Given the description of an element on the screen output the (x, y) to click on. 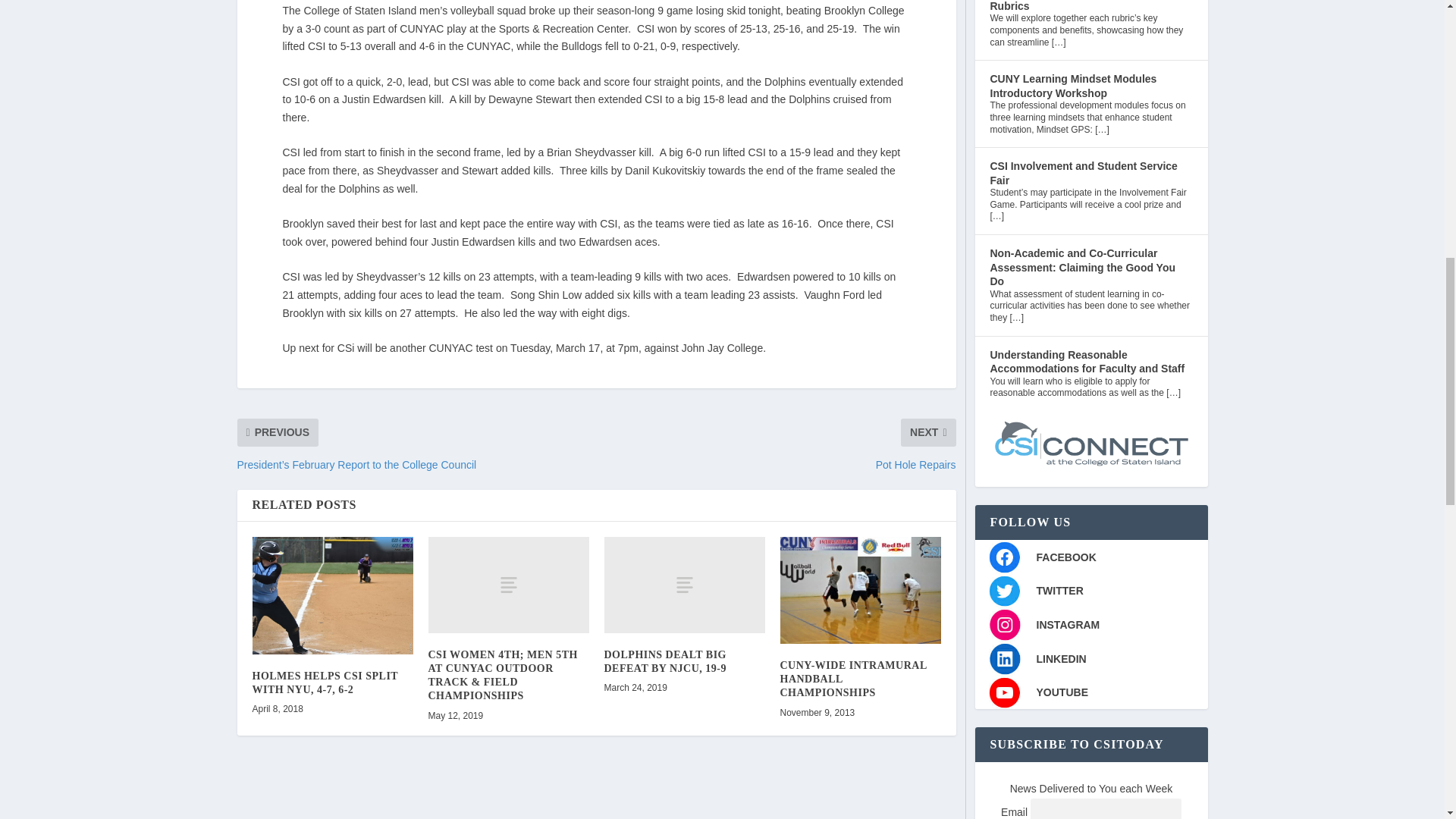
DOLPHINS DEALT BIG DEFEAT BY NJCU, 19-9 (684, 585)
HOLMES HELPS CSI SPLIT WITH NYU, 4-7, 6-2 (331, 595)
CUNY-WIDE INTRAMURAL HANDBALL CHAMPIONSHIPS (859, 590)
